Given the description of an element on the screen output the (x, y) to click on. 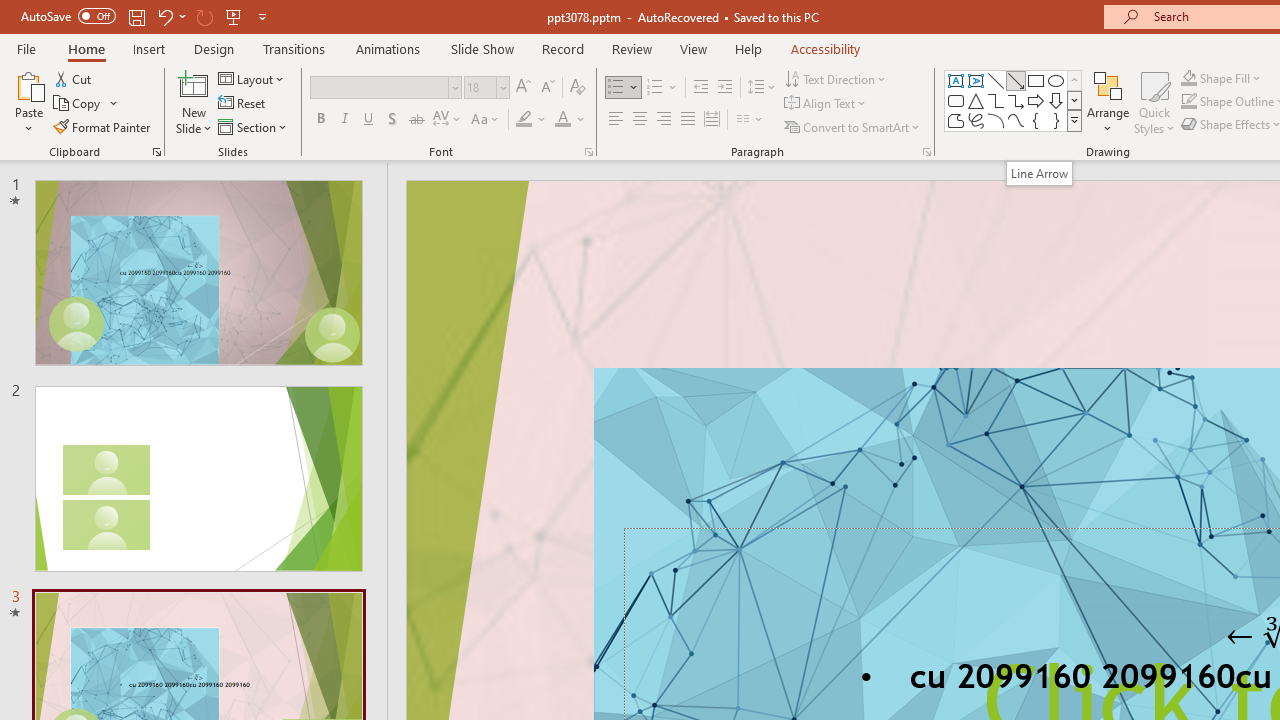
Line Spacing (762, 87)
Layout (252, 78)
Font... (588, 151)
Decrease Font Size (547, 87)
Arrange (1108, 102)
Section (254, 126)
Align Left (616, 119)
Clear Formatting (577, 87)
